Given the description of an element on the screen output the (x, y) to click on. 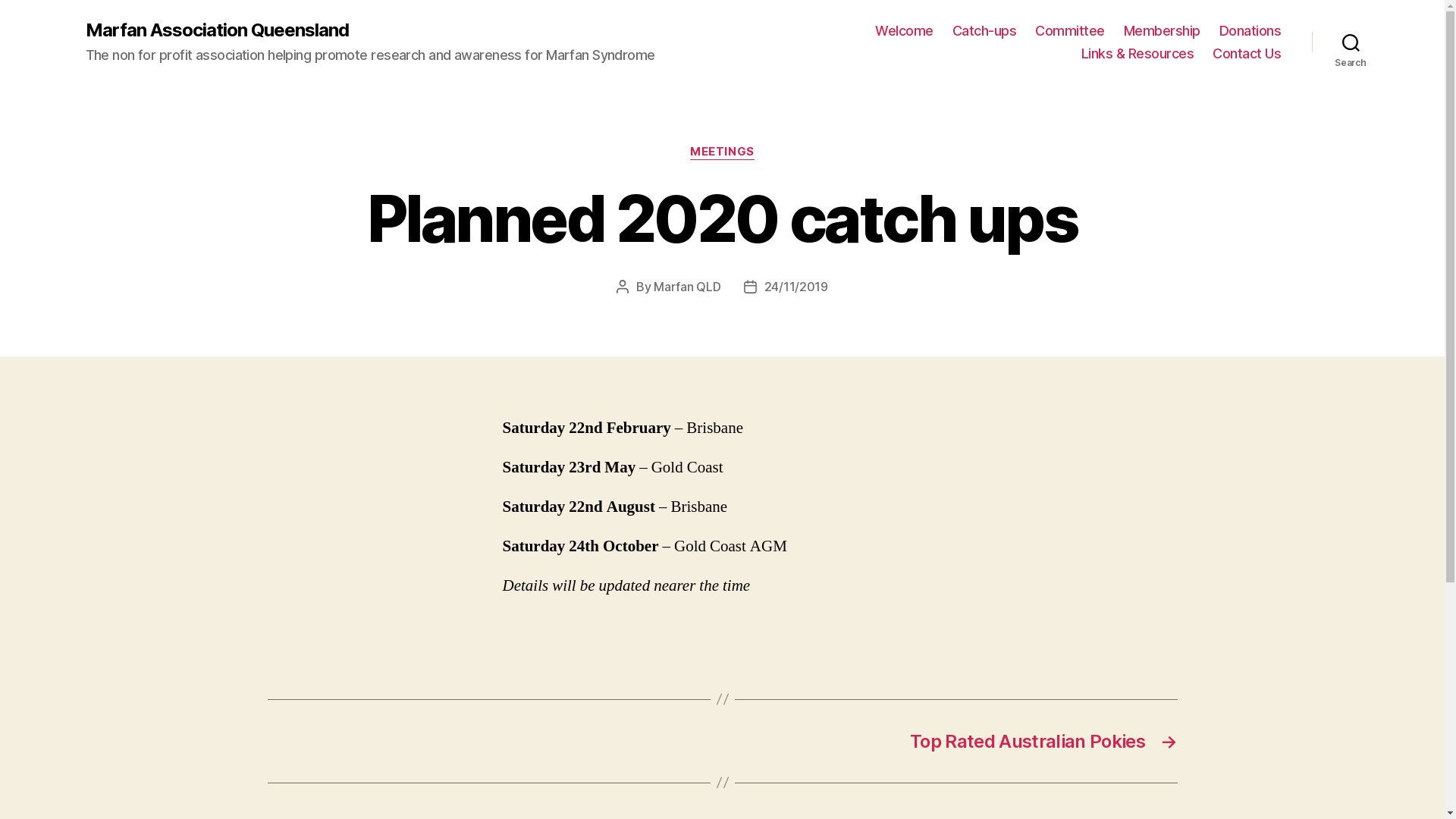
Search Element type: text (1350, 42)
Links & Resources Element type: text (1137, 53)
24/11/2019 Element type: text (796, 286)
Contact Us Element type: text (1246, 53)
Membership Element type: text (1161, 30)
Marfan QLD Element type: text (686, 286)
Committee Element type: text (1069, 30)
Catch-ups Element type: text (984, 30)
Donations Element type: text (1250, 30)
Marfan Association Queensland Element type: text (216, 30)
Welcome Element type: text (904, 30)
MEETINGS Element type: text (721, 152)
